Given the description of an element on the screen output the (x, y) to click on. 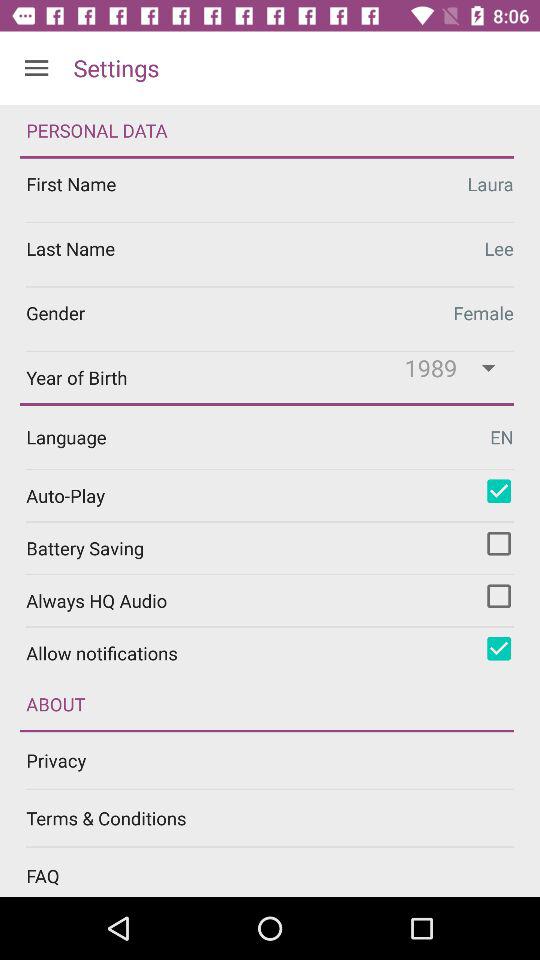
swipe to terms & conditions item (283, 817)
